Given the description of an element on the screen output the (x, y) to click on. 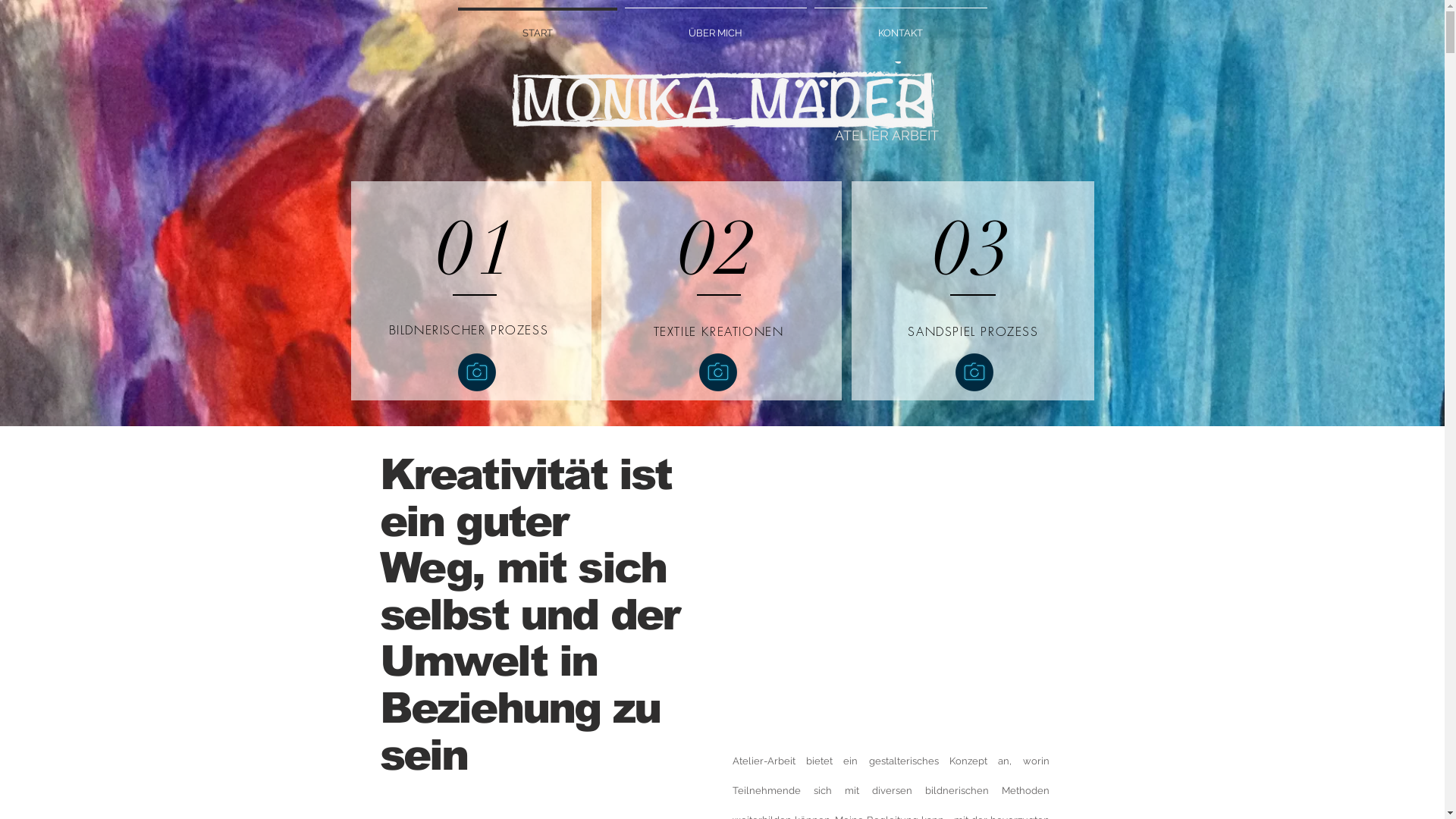
START Element type: text (536, 26)
KONTAKT Element type: text (899, 26)
